Given the description of an element on the screen output the (x, y) to click on. 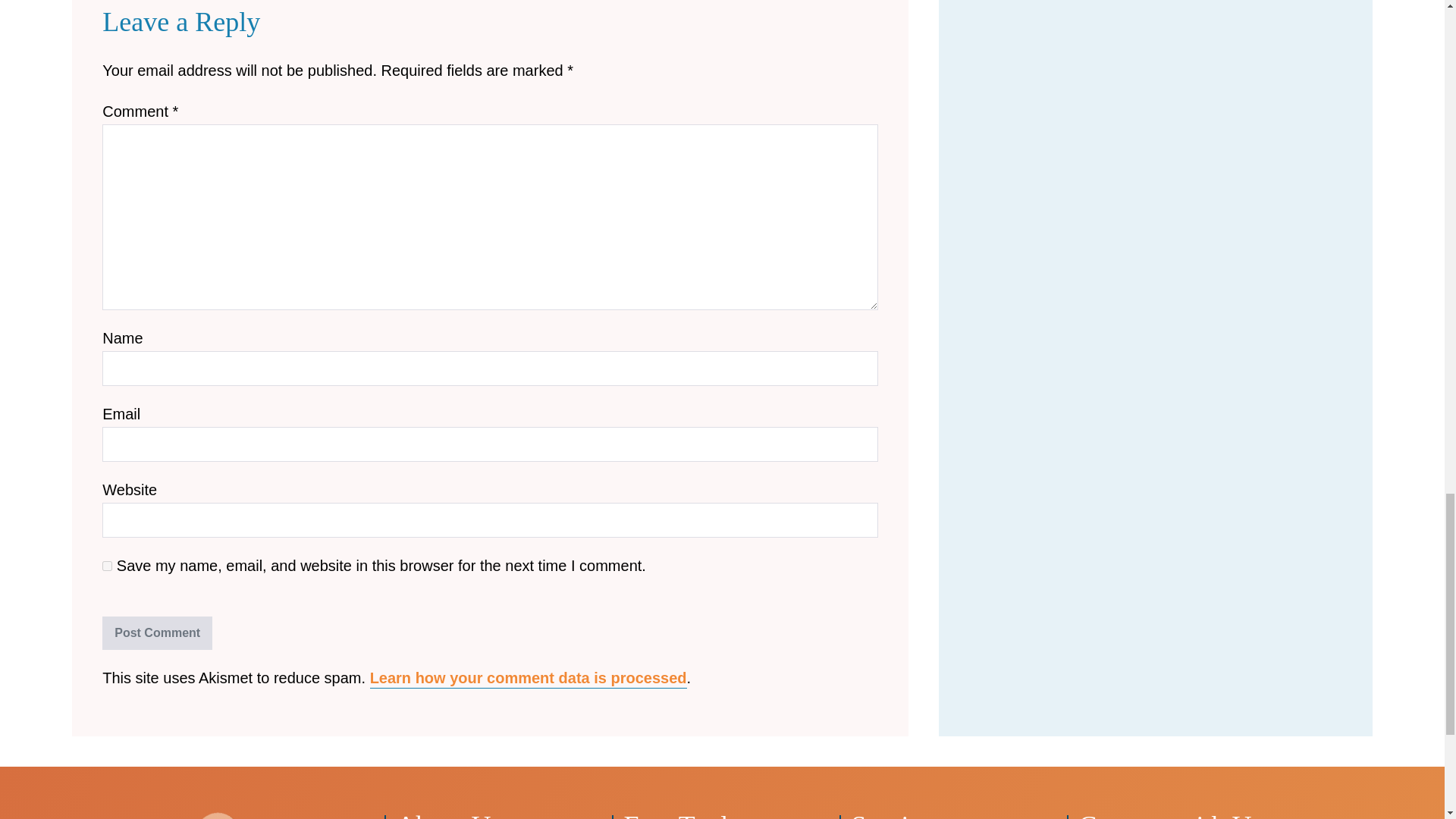
yes (106, 565)
Post Comment (156, 633)
merge-speaks-logo (215, 815)
